Given the description of an element on the screen output the (x, y) to click on. 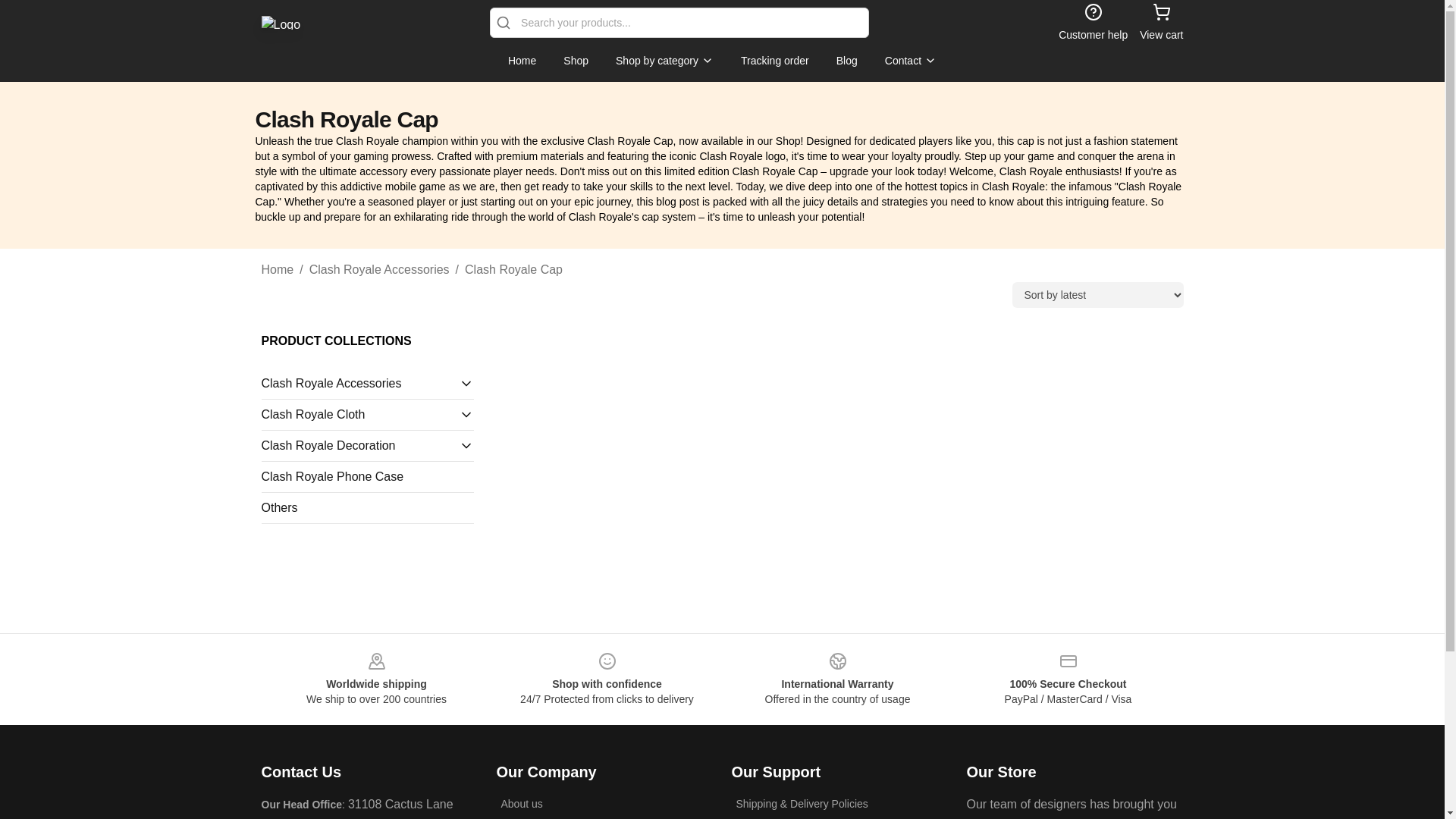
Home (522, 60)
Clash Royale Accessories (359, 383)
Contact (910, 60)
Clash Royale Cap (513, 270)
Blog (846, 60)
Others (366, 507)
Shop (575, 60)
Customer help (1092, 22)
View cart (1161, 22)
Home (277, 270)
Clash Royale Shop (279, 22)
Clash Royale Decoration (359, 445)
Clash Royale Accessories (378, 270)
Clash Royale Cloth (359, 414)
view cart (1161, 22)
